Given the description of an element on the screen output the (x, y) to click on. 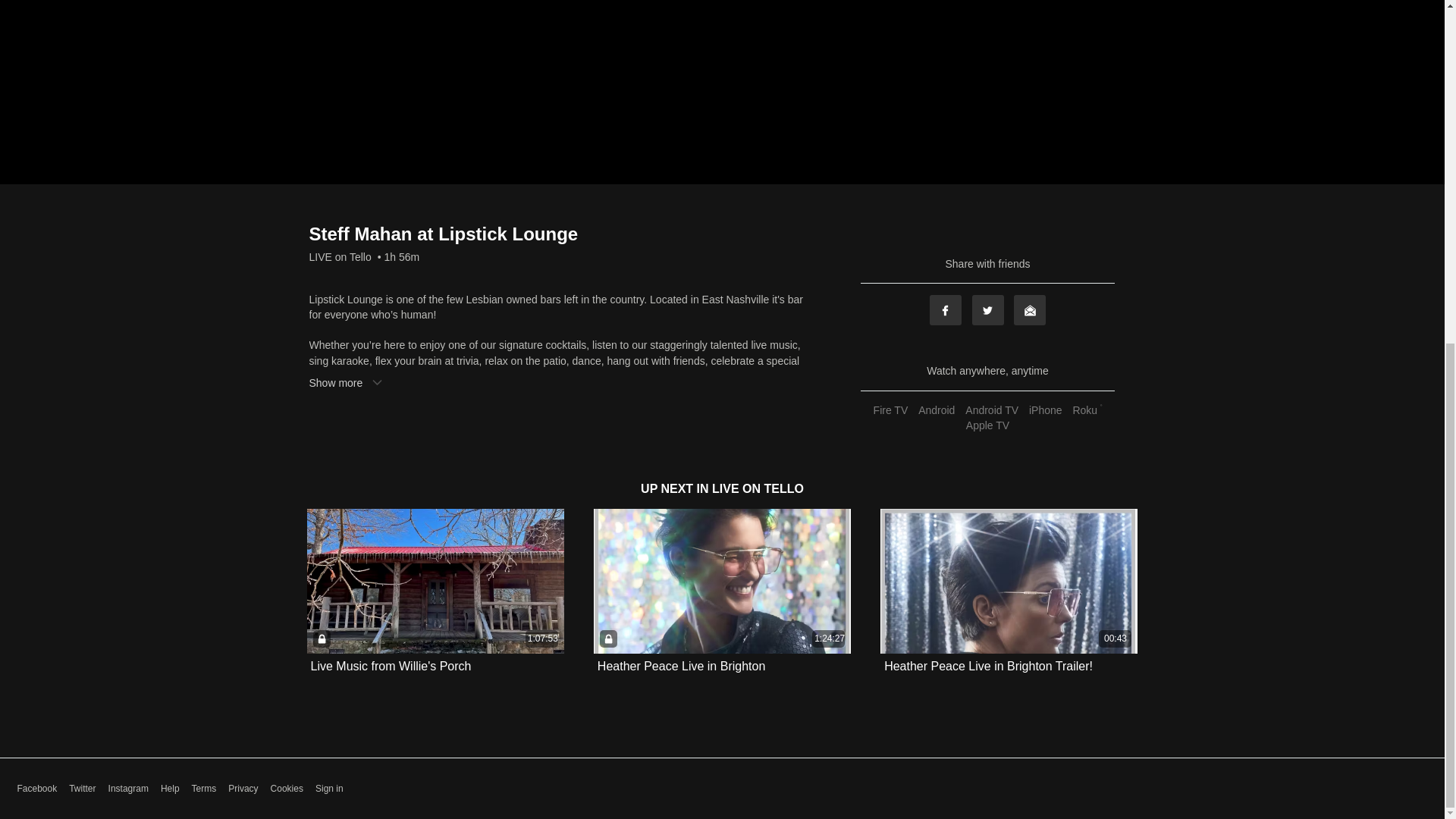
Live Music from Willie's Porch (391, 666)
LIVE ON TELLO (757, 488)
Heather Peace Live in Brighton  (680, 666)
Apple TV (987, 425)
Privacy (242, 788)
Email (1029, 309)
Instagram (127, 788)
LIVE on Tello (339, 256)
Help (169, 788)
Facebook (36, 788)
Twitter (82, 788)
Heather Peace Live in Brighton (680, 666)
iPhone (1045, 410)
Heather Peace Live in Brighton Trailer! (988, 666)
Facebook (945, 309)
